Given the description of an element on the screen output the (x, y) to click on. 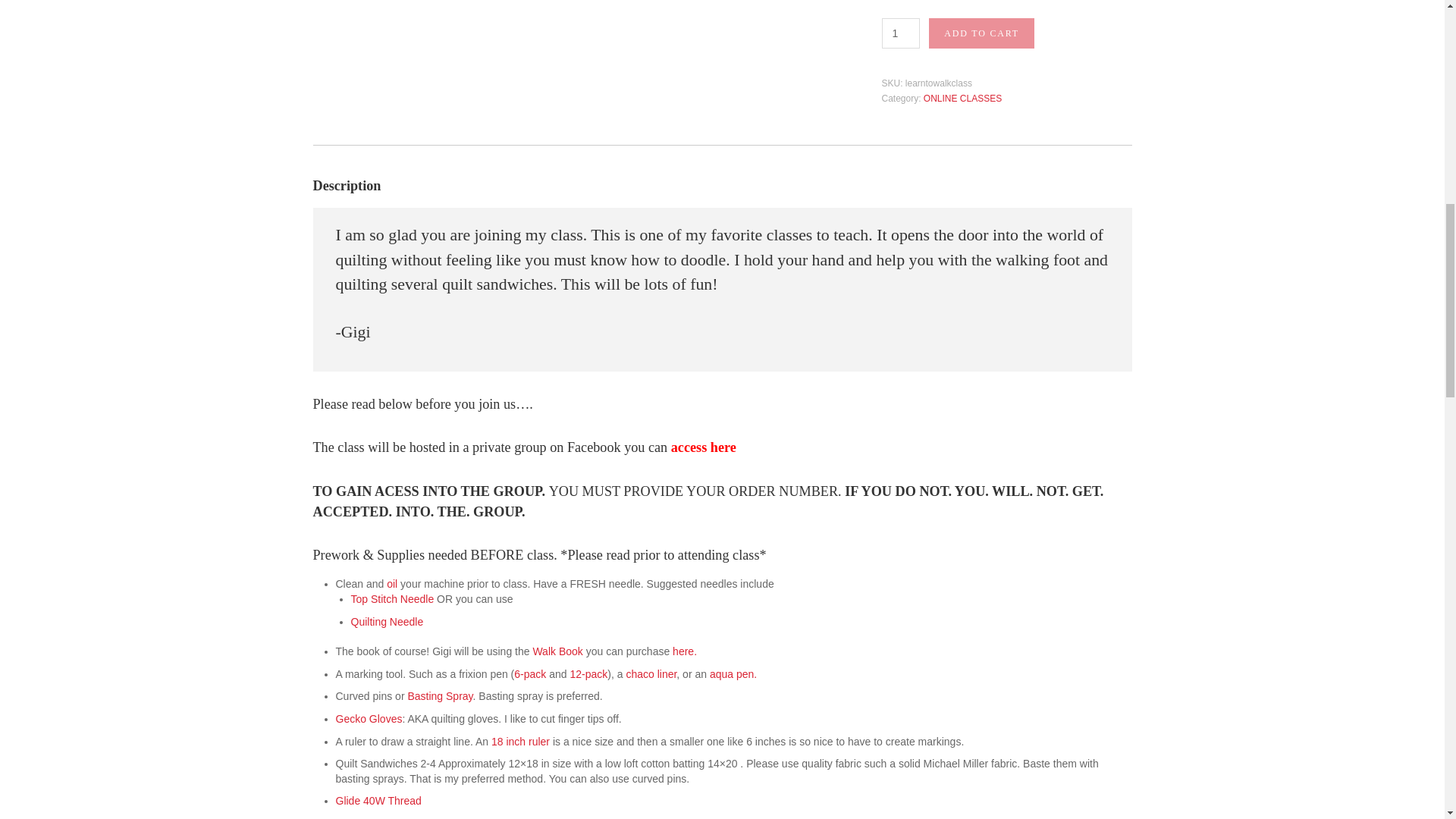
1 (900, 33)
